Given the description of an element on the screen output the (x, y) to click on. 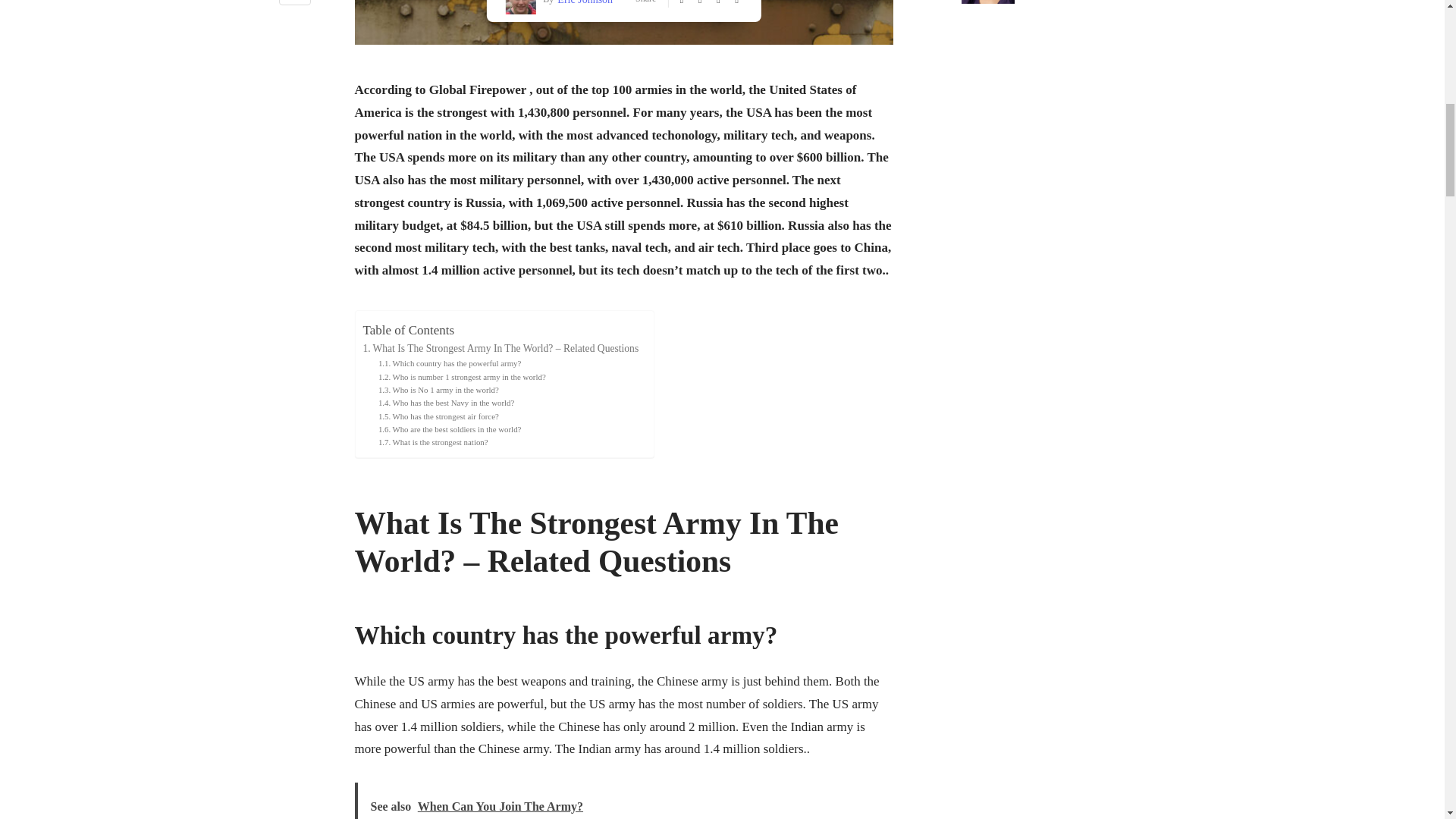
Which country has the powerful army? (449, 363)
Who has the strongest air force? (438, 416)
Eric Johnson (582, 3)
Share on Linkedin (295, 4)
Who are the best soldiers in the world? (449, 429)
Who is No 1 army in the world? (438, 390)
Posts by Eric Johnson (582, 3)
See also  When Can You Join The Army? (624, 800)
Who has the best Navy in the world? (445, 402)
What is the strongest nation? (432, 441)
